Given the description of an element on the screen output the (x, y) to click on. 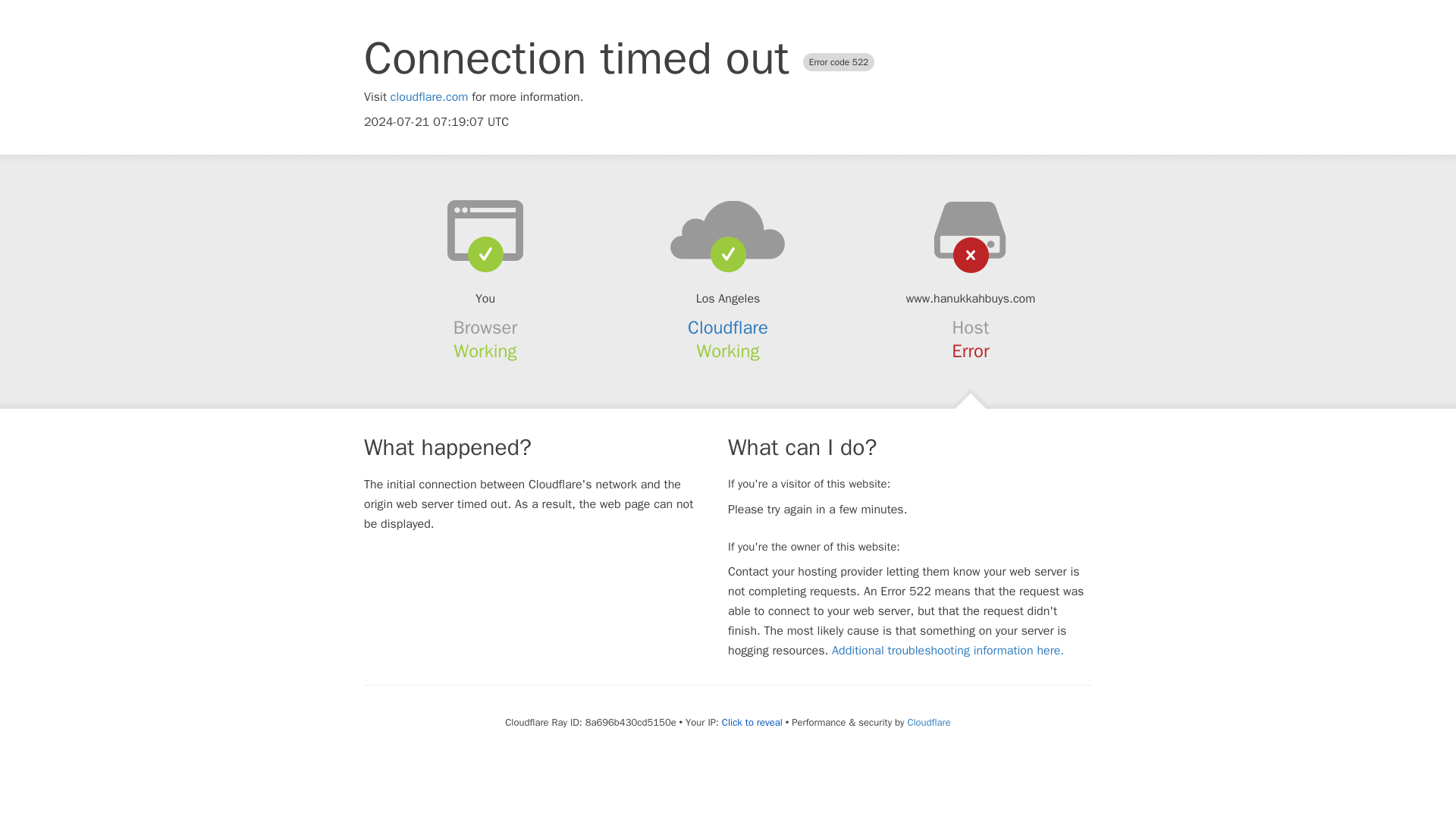
cloudflare.com (429, 96)
Click to reveal (752, 722)
Cloudflare (928, 721)
Additional troubleshooting information here. (947, 650)
Cloudflare (727, 327)
